Given the description of an element on the screen output the (x, y) to click on. 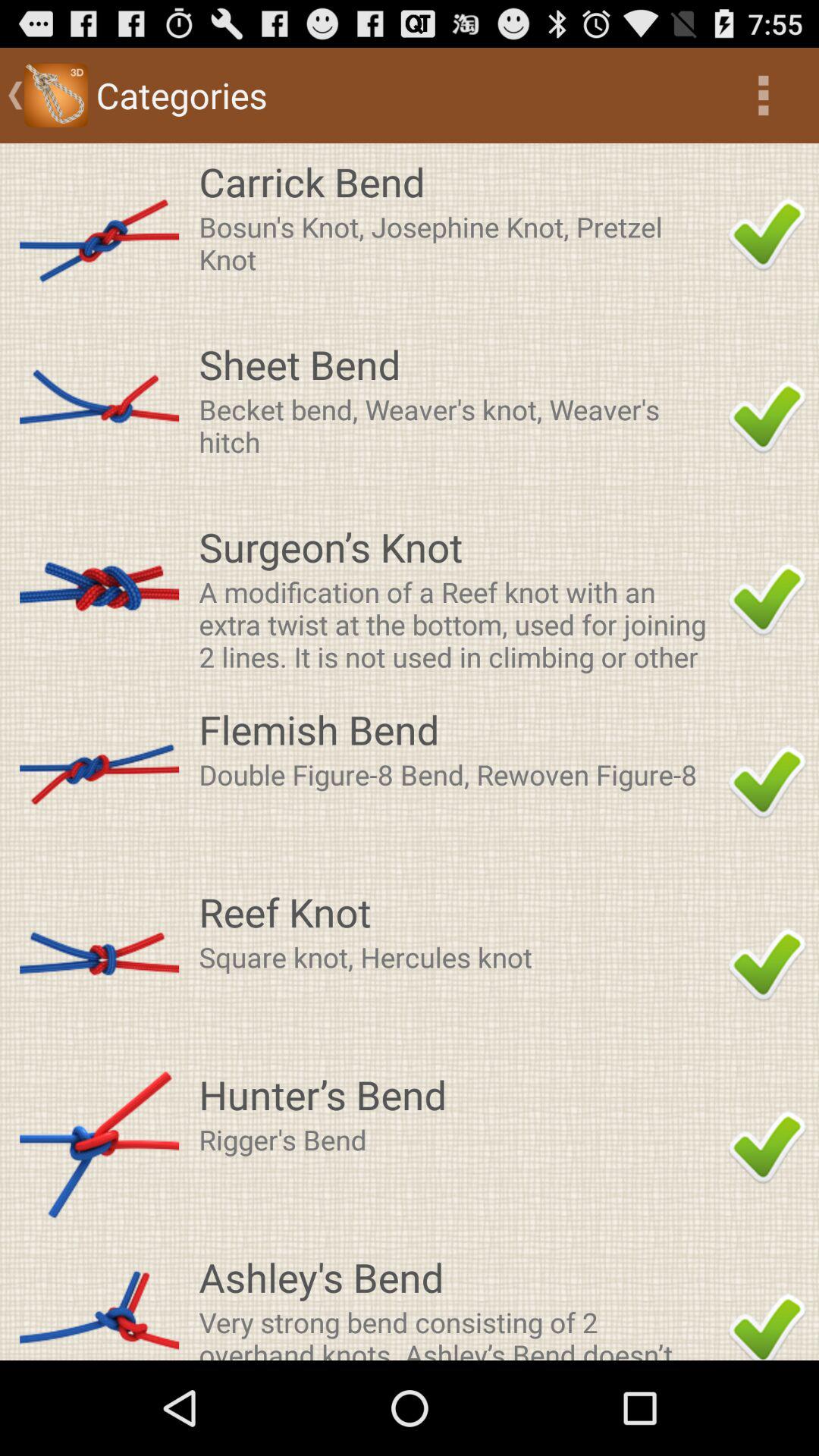
open the icon above the flemish bend item (459, 623)
